Given the description of an element on the screen output the (x, y) to click on. 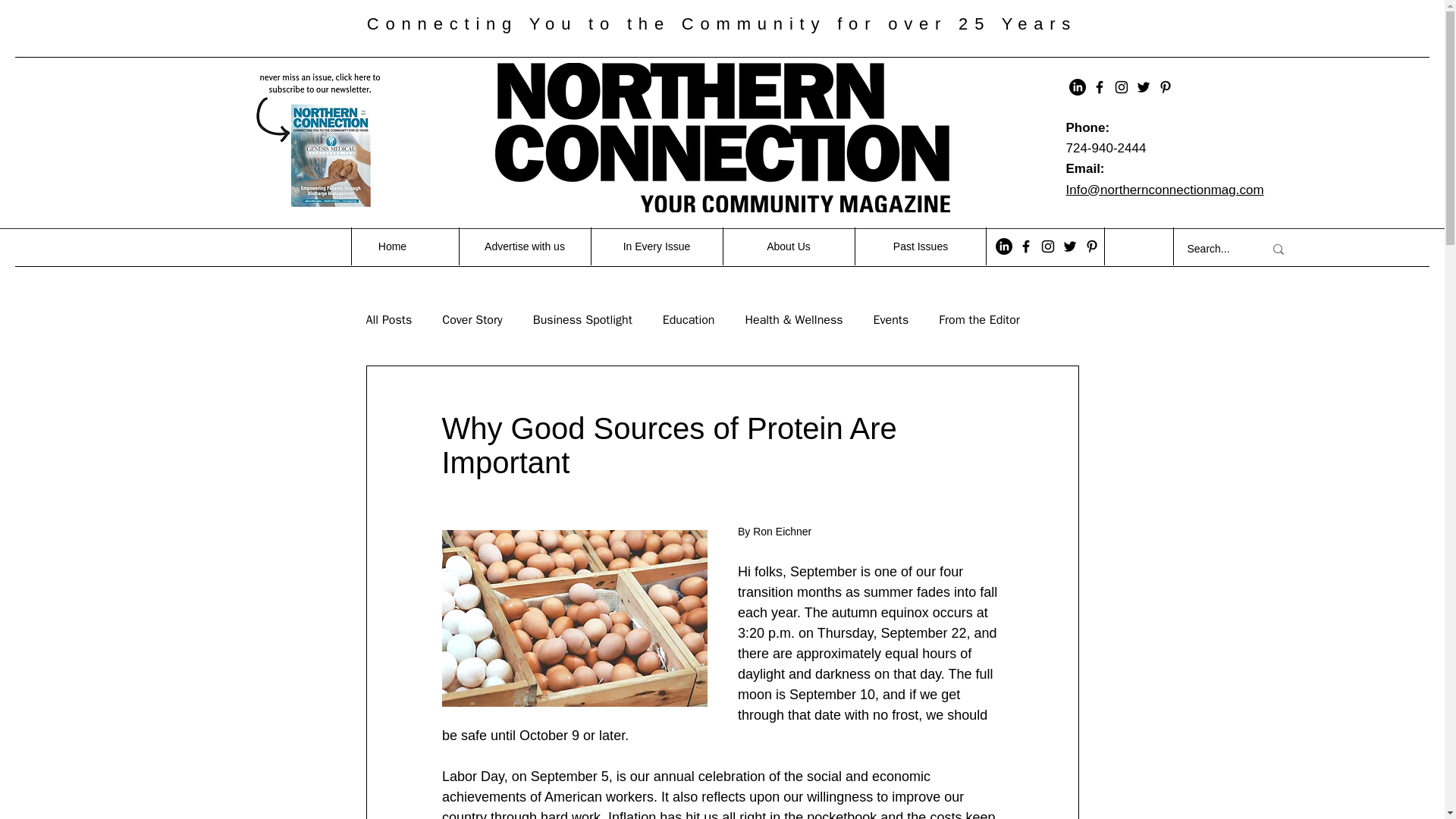
Home (392, 246)
Advertise with us (523, 246)
From the Editor (979, 320)
In Every Issue (655, 246)
About Us (787, 246)
Education (688, 320)
Cover Story (472, 320)
Business Spotlight (581, 320)
Past Issues (919, 246)
All Posts (388, 320)
Events (890, 320)
